Given the description of an element on the screen output the (x, y) to click on. 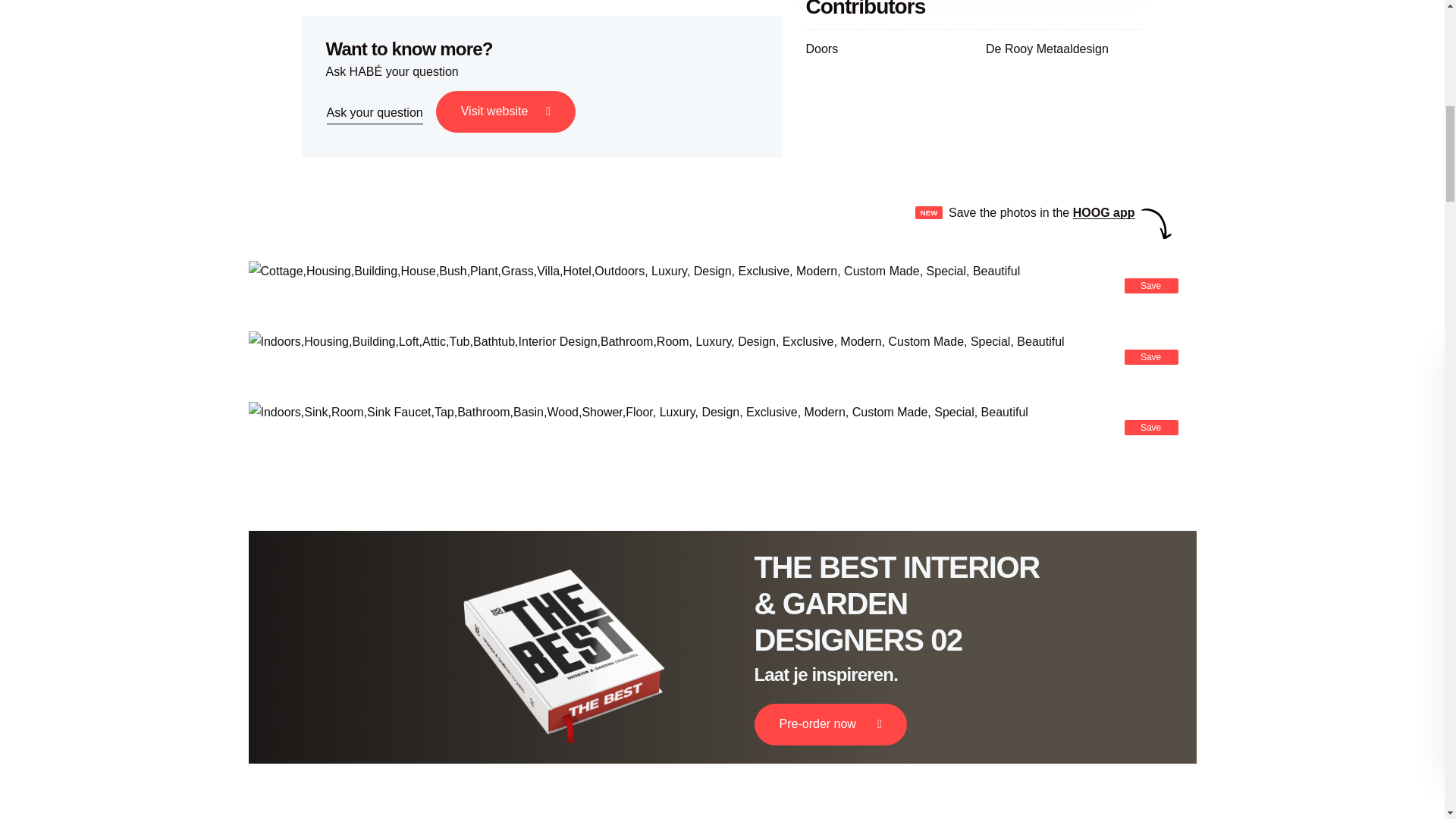
Like photo (1150, 285)
About the HOOG app (1104, 212)
